Given the description of an element on the screen output the (x, y) to click on. 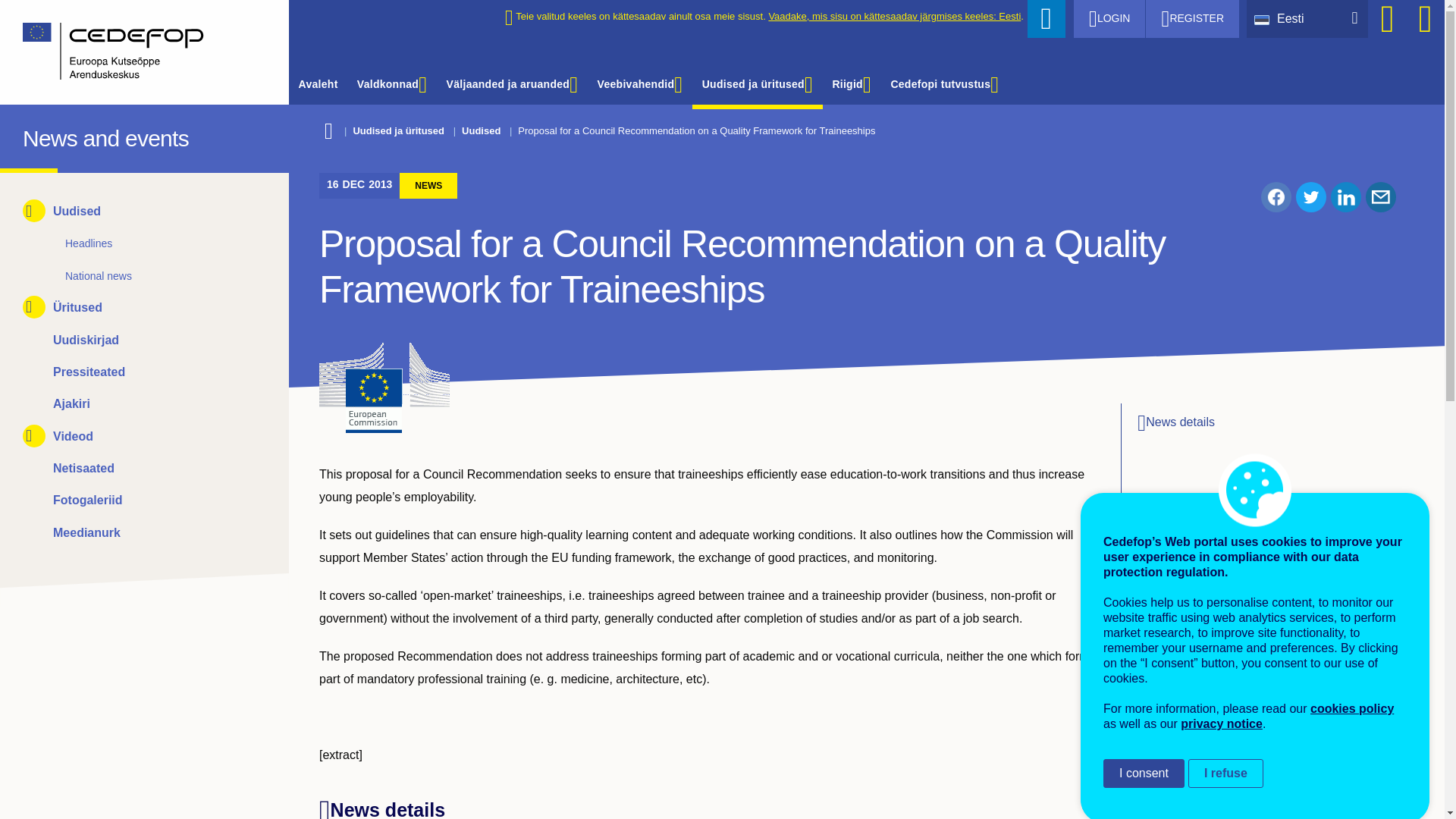
Apply (1046, 18)
Estonian (1265, 18)
Home (133, 52)
CEDEFOP (37, 135)
Home (37, 135)
